Given the description of an element on the screen output the (x, y) to click on. 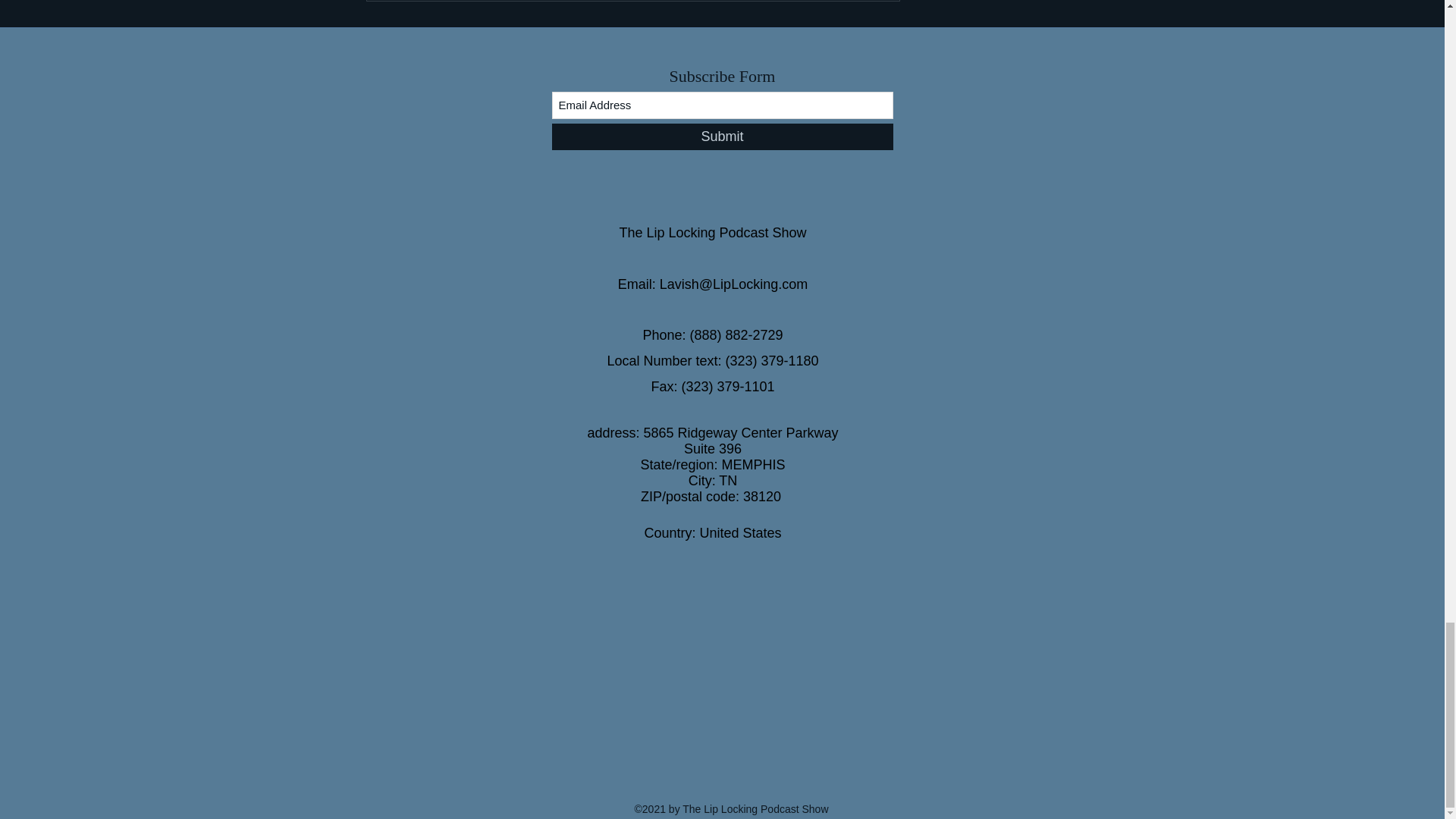
Submit (722, 136)
